Given the description of an element on the screen output the (x, y) to click on. 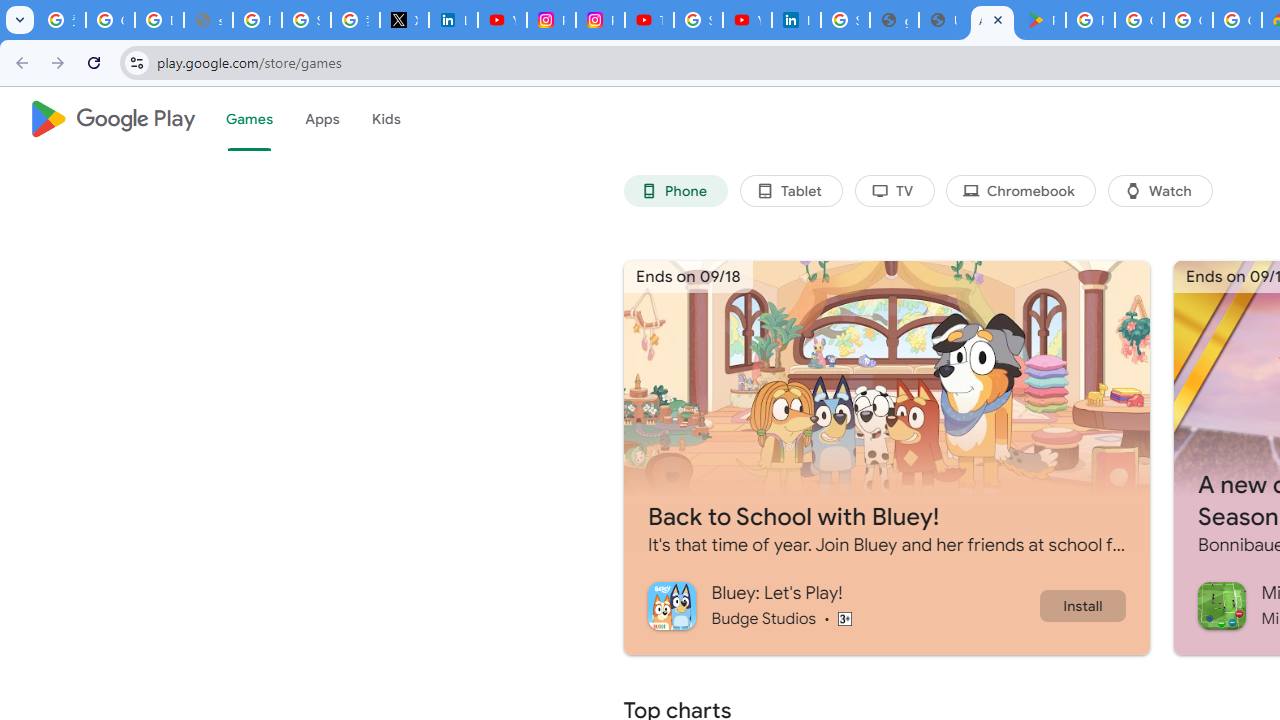
Sign in - Google Accounts (306, 20)
YouTube Content Monetization Policies - How YouTube Works (502, 20)
Sign in - Google Accounts (698, 20)
Privacy Help Center - Policies Help (257, 20)
LinkedIn Privacy Policy (452, 20)
Google Workspace - Specific Terms (1188, 20)
Tablet (790, 190)
Games (248, 119)
Android Apps on Google Play (992, 20)
Phone (675, 190)
